Given the description of an element on the screen output the (x, y) to click on. 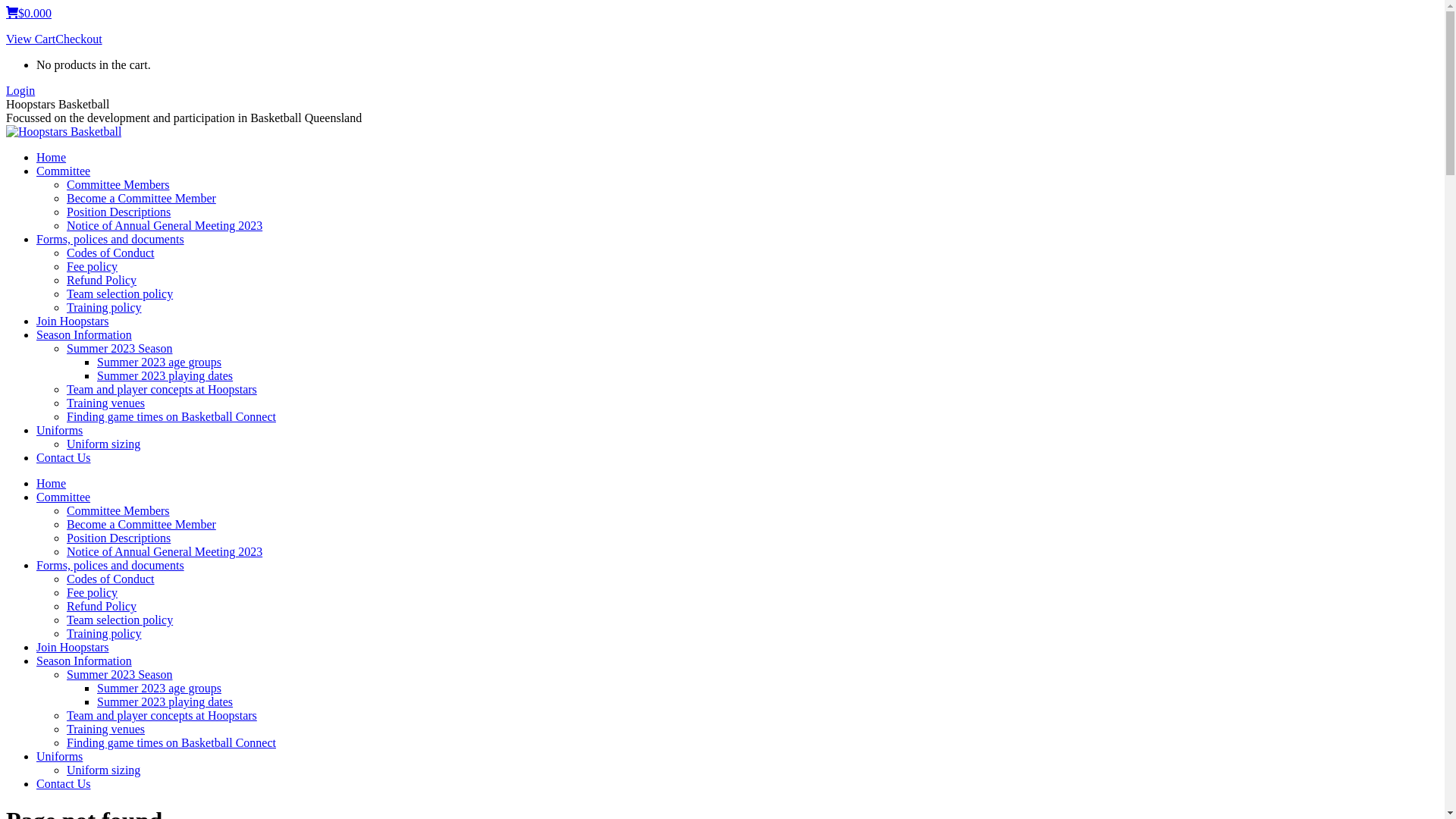
Refund Policy Element type: text (101, 605)
Team and player concepts at Hoopstars Element type: text (161, 388)
$0.000 Element type: text (28, 12)
Become a Committee Member Element type: text (141, 523)
Uniform sizing Element type: text (103, 443)
Login Element type: text (20, 90)
Codes of Conduct Element type: text (110, 578)
Position Descriptions Element type: text (118, 211)
Join Hoopstars Element type: text (72, 320)
Summer 2023 Season Element type: text (119, 348)
Summer 2023 playing dates Element type: text (164, 701)
Uniforms Element type: text (59, 755)
Committee Element type: text (63, 170)
Training policy Element type: text (103, 307)
Team selection policy Element type: text (119, 293)
Checkout Element type: text (78, 38)
Summer 2023 age groups Element type: text (159, 361)
Uniform sizing Element type: text (103, 769)
Skip to content Element type: text (5, 5)
Training venues Element type: text (105, 402)
Committee Members Element type: text (117, 510)
Team and player concepts at Hoopstars Element type: text (161, 715)
Notice of Annual General Meeting 2023 Element type: text (164, 551)
Finding game times on Basketball Connect Element type: text (171, 742)
Fee policy Element type: text (91, 592)
Contact Us Element type: text (63, 457)
Refund Policy Element type: text (101, 279)
Season Information Element type: text (83, 334)
Home Element type: text (50, 482)
Forms, polices and documents Element type: text (110, 564)
Summer 2023 playing dates Element type: text (164, 375)
Summer 2023 age groups Element type: text (159, 687)
Summer 2023 Season Element type: text (119, 674)
Finding game times on Basketball Connect Element type: text (171, 416)
Committee Members Element type: text (117, 184)
Training policy Element type: text (103, 633)
Forms, polices and documents Element type: text (110, 238)
Season Information Element type: text (83, 660)
Contact Us Element type: text (63, 783)
Become a Committee Member Element type: text (141, 197)
Committee Element type: text (63, 496)
Team selection policy Element type: text (119, 619)
Position Descriptions Element type: text (118, 537)
Join Hoopstars Element type: text (72, 646)
Uniforms Element type: text (59, 429)
View Cart Element type: text (30, 38)
Training venues Element type: text (105, 728)
Home Element type: text (50, 156)
Notice of Annual General Meeting 2023 Element type: text (164, 225)
Codes of Conduct Element type: text (110, 252)
Fee policy Element type: text (91, 266)
